Given the description of an element on the screen output the (x, y) to click on. 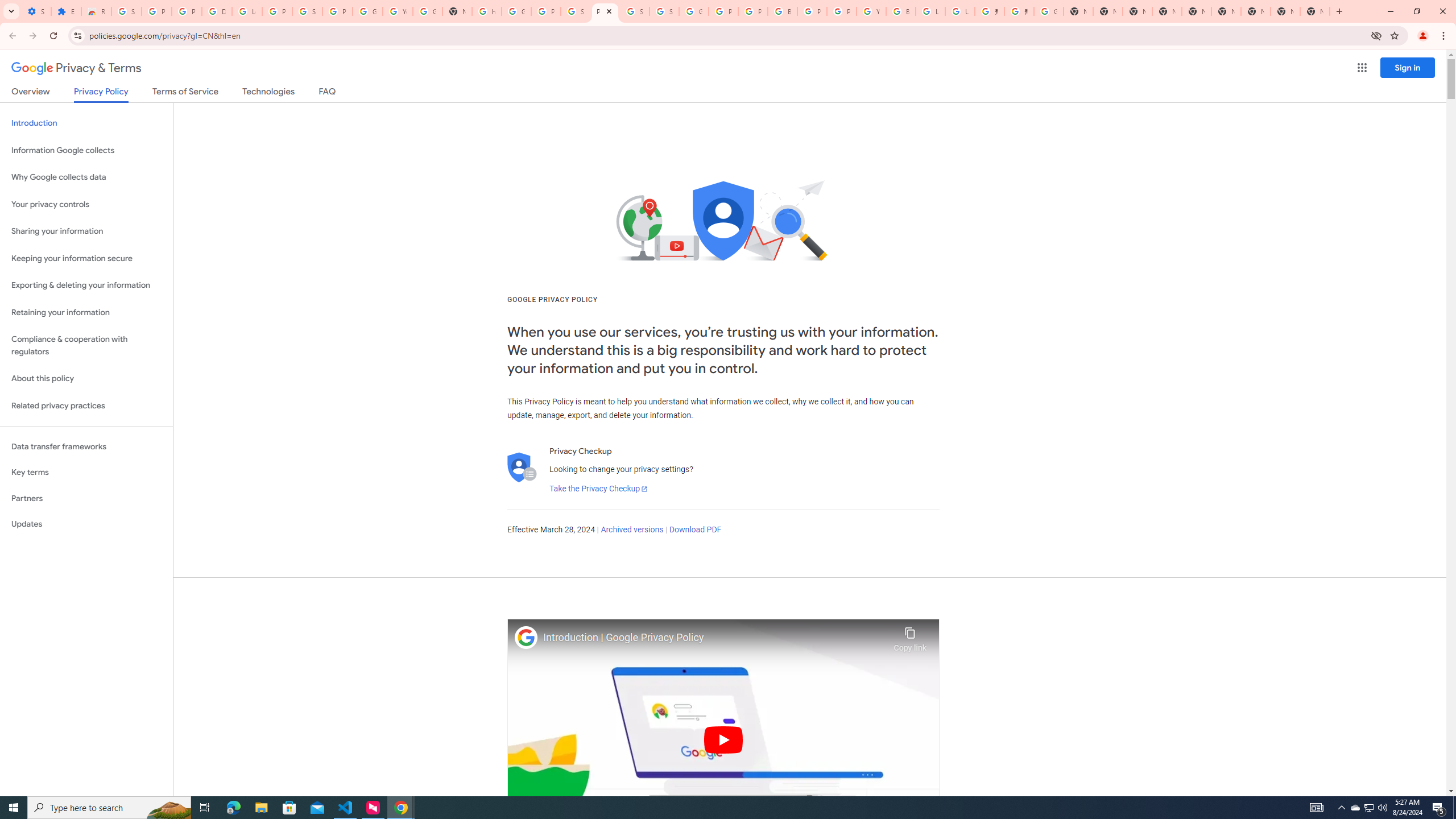
https://scholar.google.com/ (486, 11)
Introduction | Google Privacy Policy (715, 637)
